Given the description of an element on the screen output the (x, y) to click on. 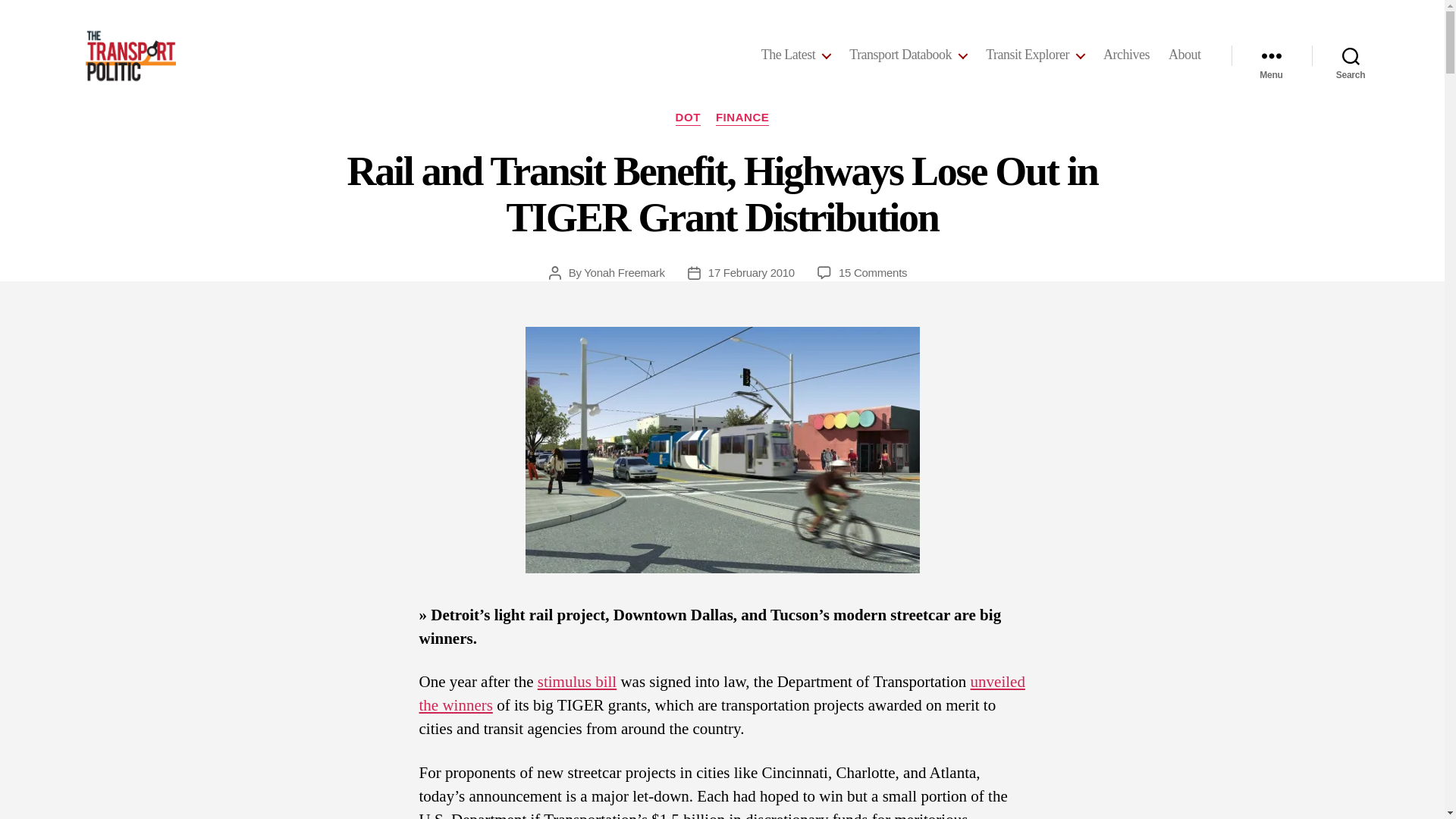
Search (1350, 55)
The Latest (795, 54)
Tucson Streetcar (721, 449)
Menu (1271, 55)
Transit Explorer (1034, 54)
Transport Databook (907, 54)
Archives (1126, 54)
About (1185, 54)
